Given the description of an element on the screen output the (x, y) to click on. 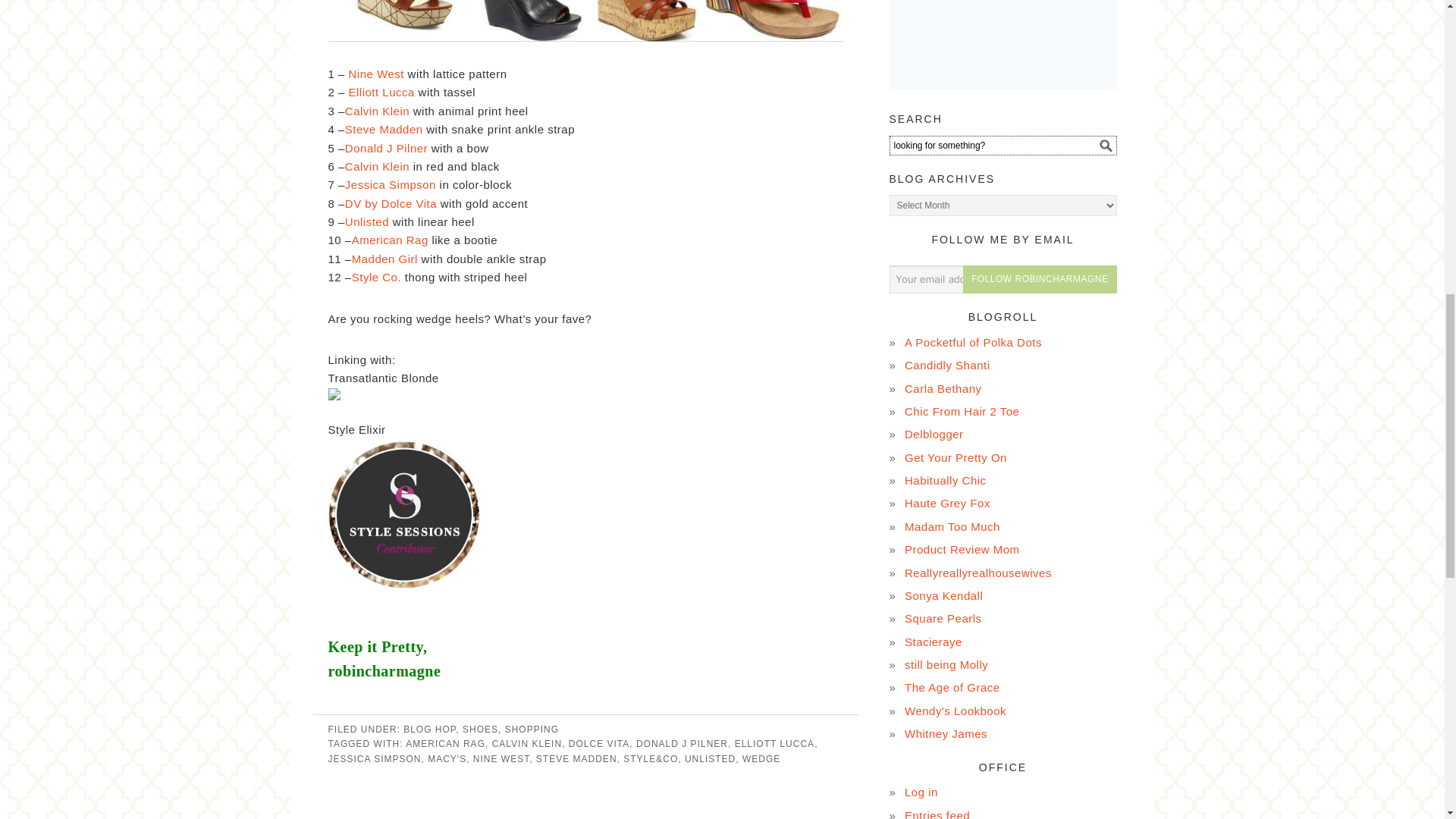
Nine West (374, 73)
Your email address (1002, 279)
Elliott Lucca (379, 91)
STYLELIXIR Style Sessions (403, 601)
A blog about fashion faith and awesome (946, 664)
Follow robincharmagne (1039, 279)
